Given the description of an element on the screen output the (x, y) to click on. 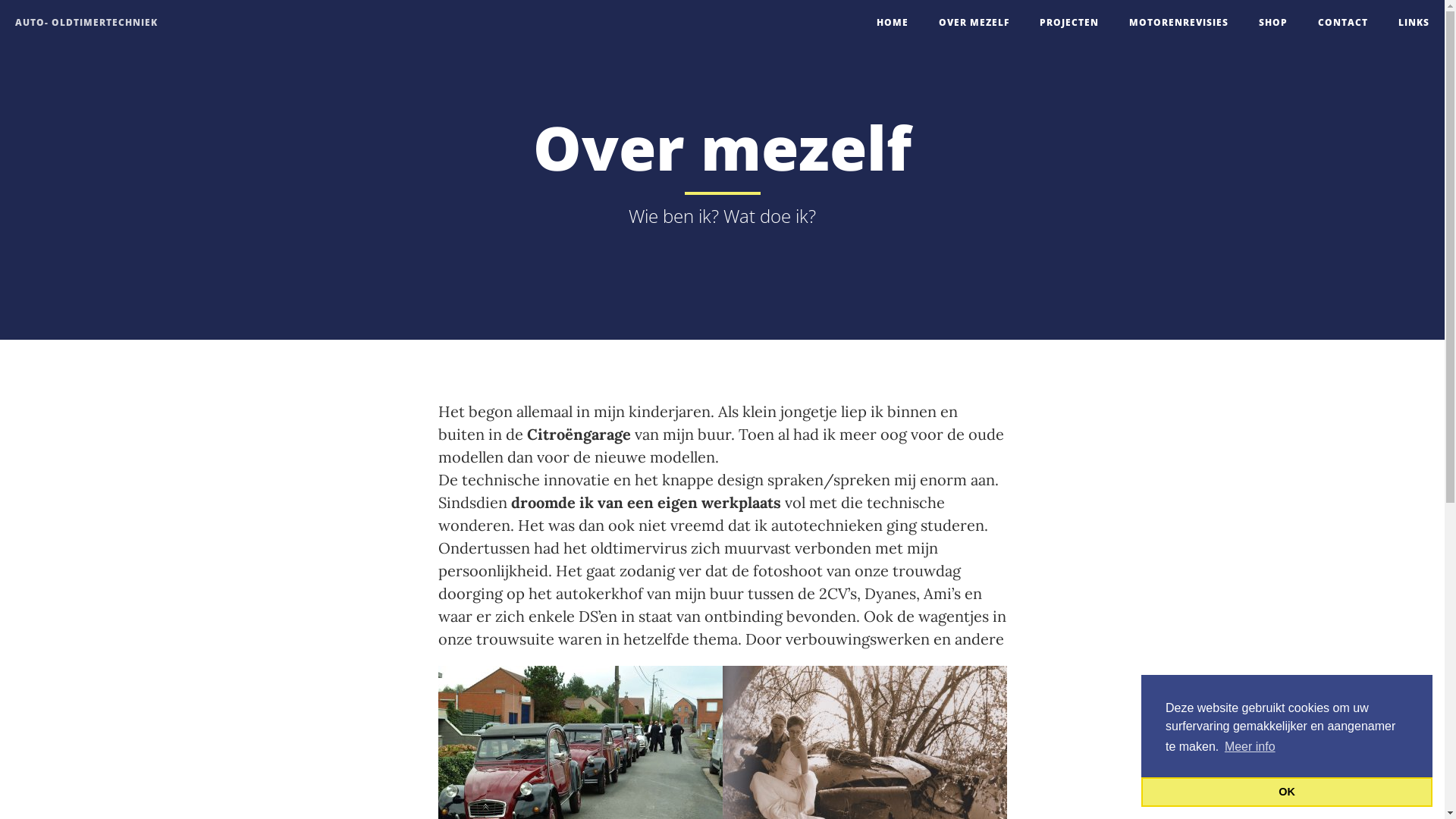
HOME Element type: text (892, 22)
PROJECTEN Element type: text (1068, 22)
MOTORENREVISIES Element type: text (1178, 22)
Meer info Element type: text (1249, 746)
SHOP Element type: text (1272, 22)
LINKS Element type: text (1413, 22)
CONTACT Element type: text (1342, 22)
AUTO- OLDTIMERTECHNIEK Element type: text (86, 18)
OVER MEZELF Element type: text (973, 22)
OK Element type: text (1286, 791)
